Given the description of an element on the screen output the (x, y) to click on. 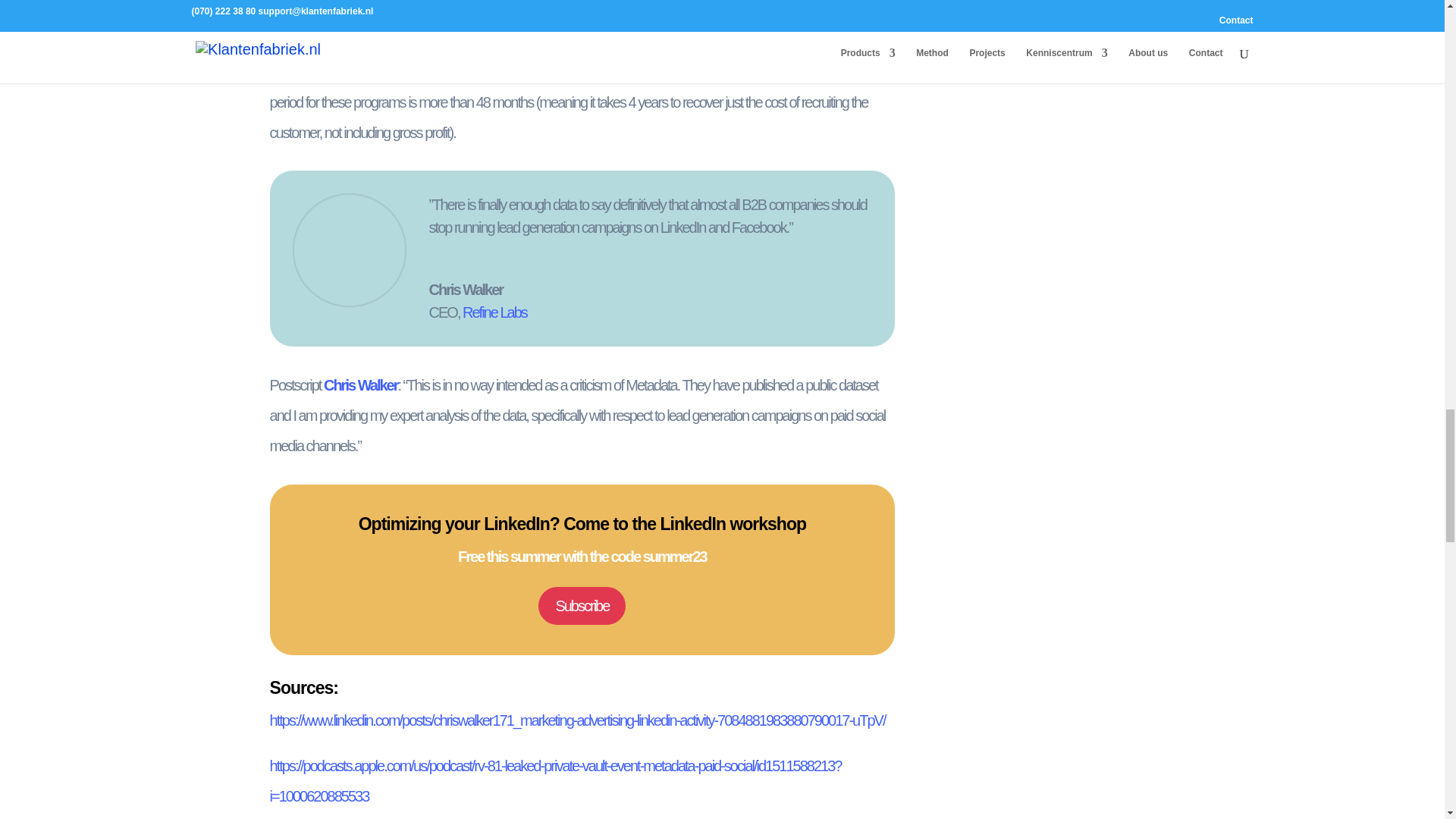
Refine Labs (495, 312)
Subscribe (582, 605)
Chris Walker (358, 384)
